Given the description of an element on the screen output the (x, y) to click on. 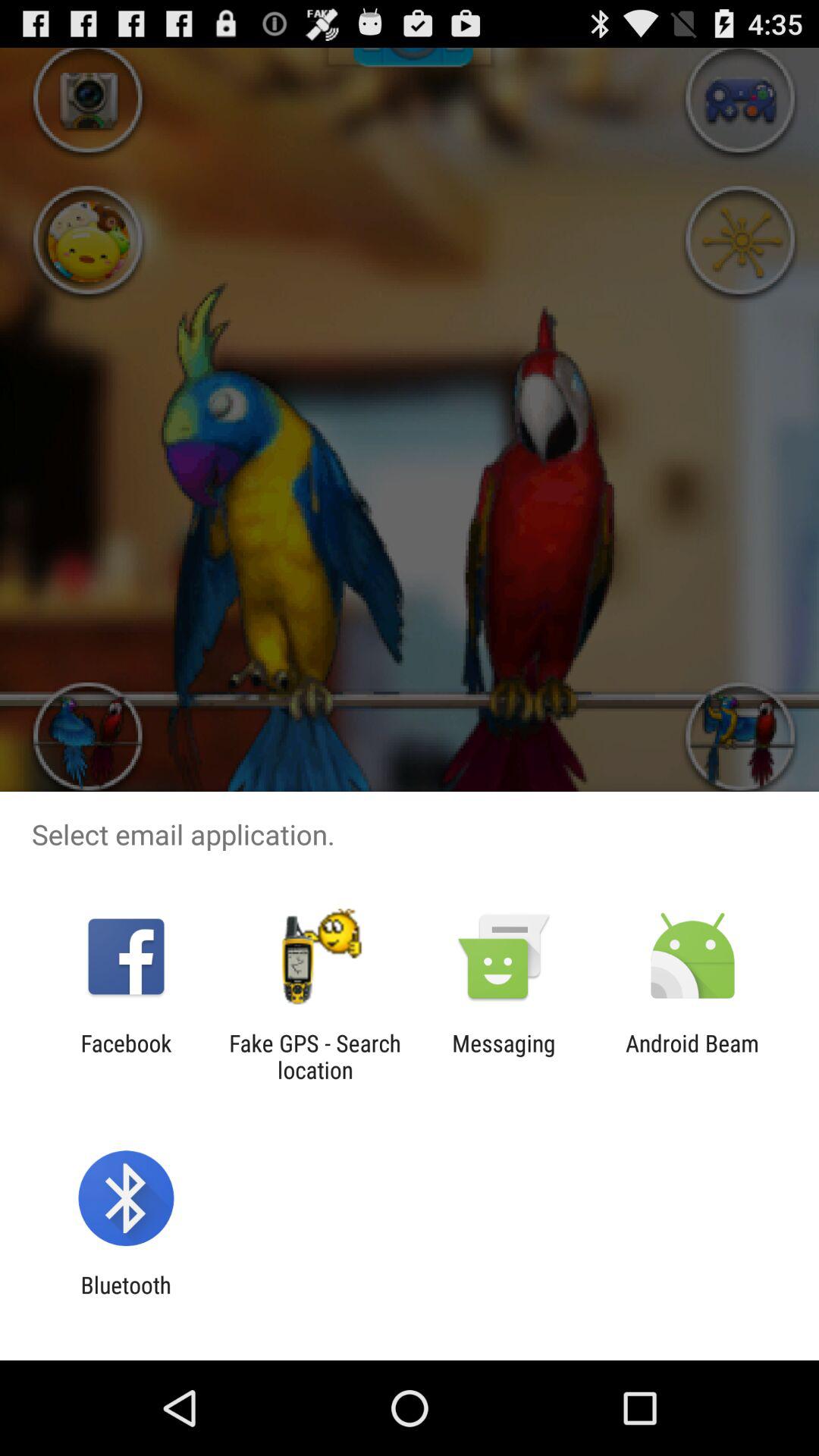
jump to the fake gps search icon (314, 1056)
